Given the description of an element on the screen output the (x, y) to click on. 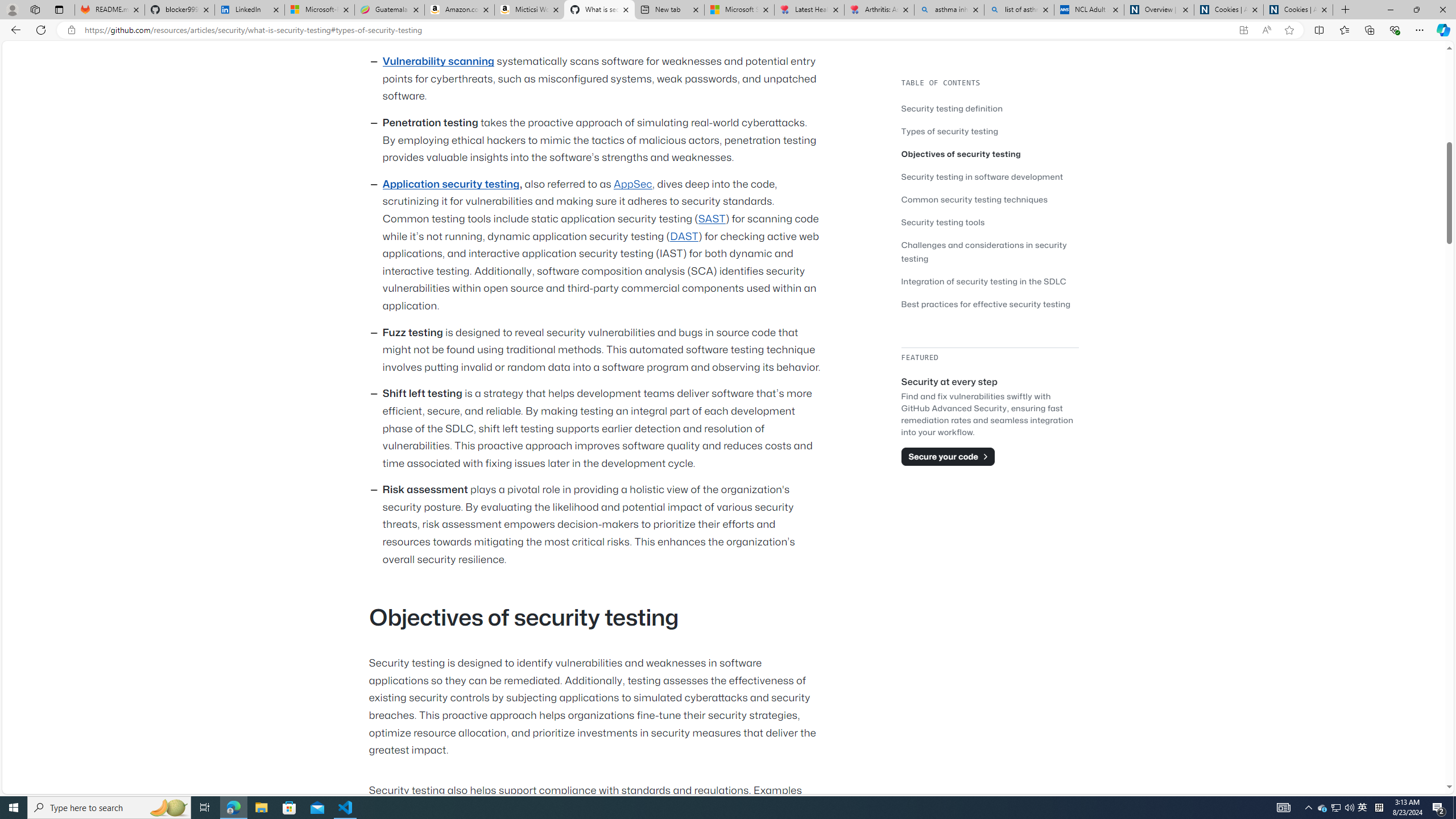
Common security testing techniques (974, 198)
Challenges and considerations in security testing (989, 251)
Objectives of security testing (960, 153)
LinkedIn (249, 9)
Cookies | About | NICE (1297, 9)
Security testing definition (989, 108)
Application security testing (450, 184)
